Given the description of an element on the screen output the (x, y) to click on. 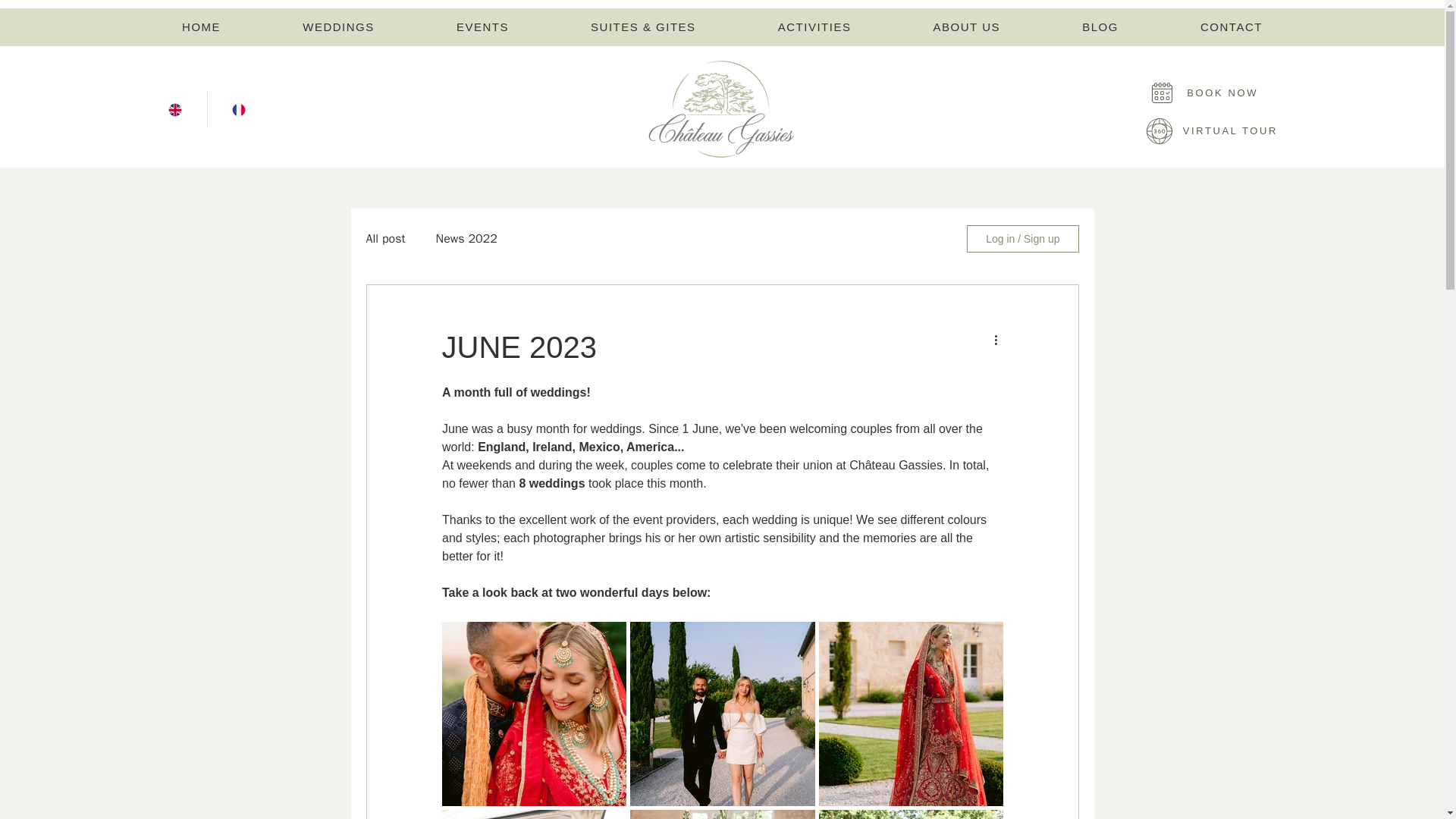
HOME (201, 26)
All post (384, 238)
CONTACT (1230, 26)
BLOG (1099, 26)
ACTIVITIES (814, 26)
VIRTUAL TOUR (1198, 130)
News 2022 (466, 238)
BOOK NOW (1177, 92)
